Given the description of an element on the screen output the (x, y) to click on. 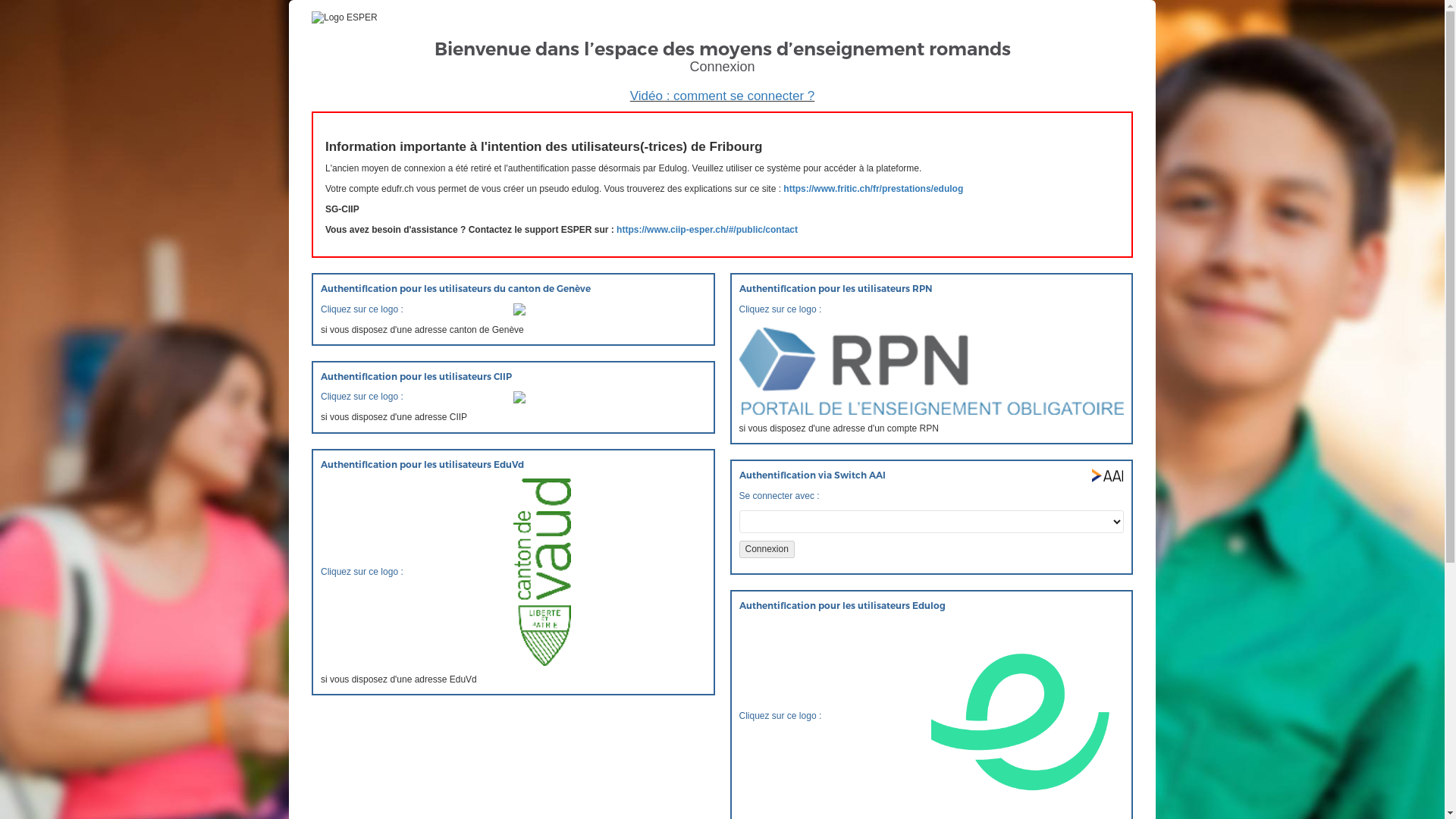
https://www.ciip-esper.ch/#/public/contact Element type: text (706, 229)
Connexion Element type: text (765, 549)
https://www.fritic.ch/fr/prestations/edulog Element type: text (873, 188)
